Given the description of an element on the screen output the (x, y) to click on. 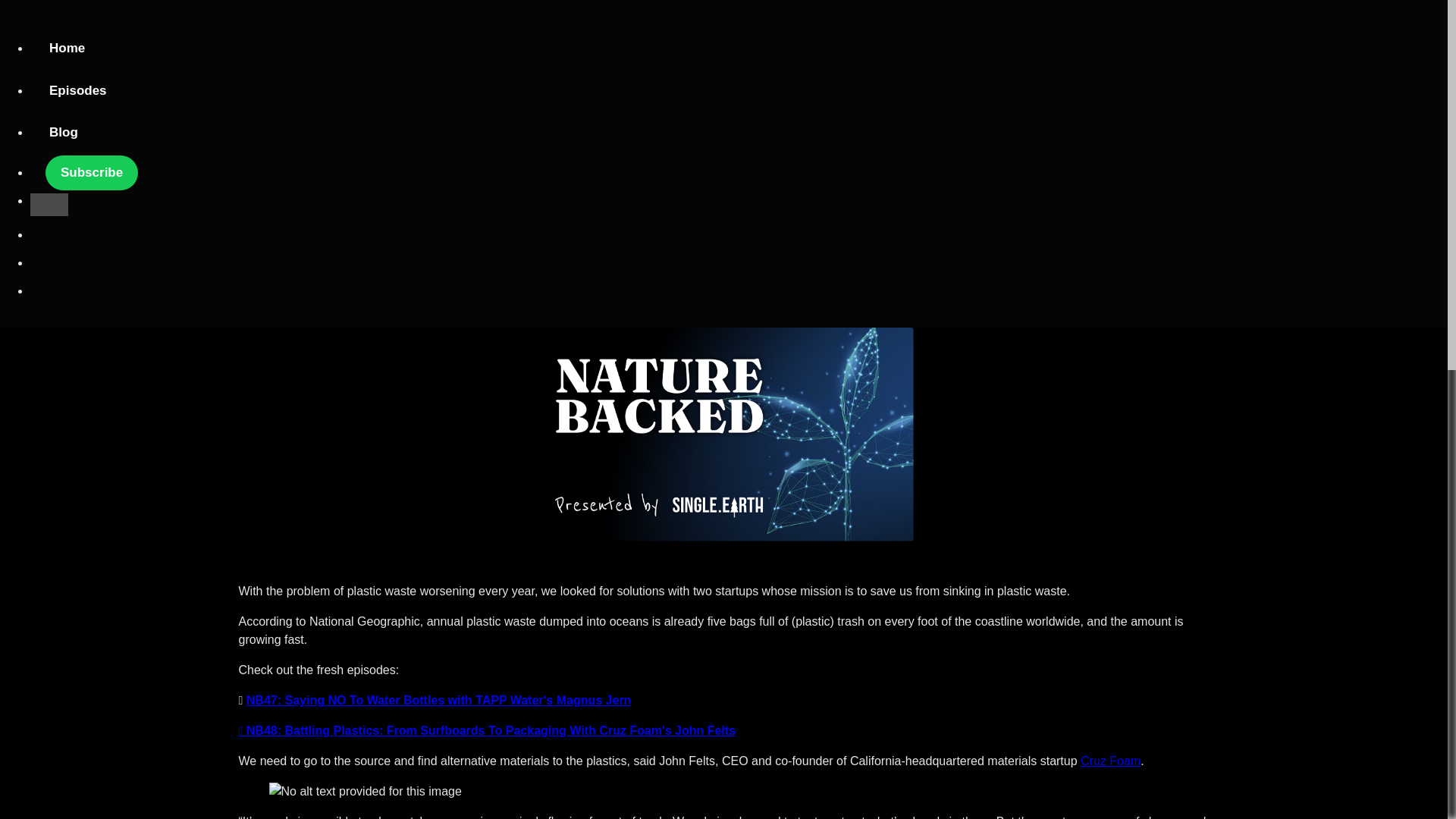
Subscribe (91, 172)
Cruz Foam (1110, 760)
Episodes (77, 90)
Home (66, 48)
Blog (63, 132)
